Given the description of an element on the screen output the (x, y) to click on. 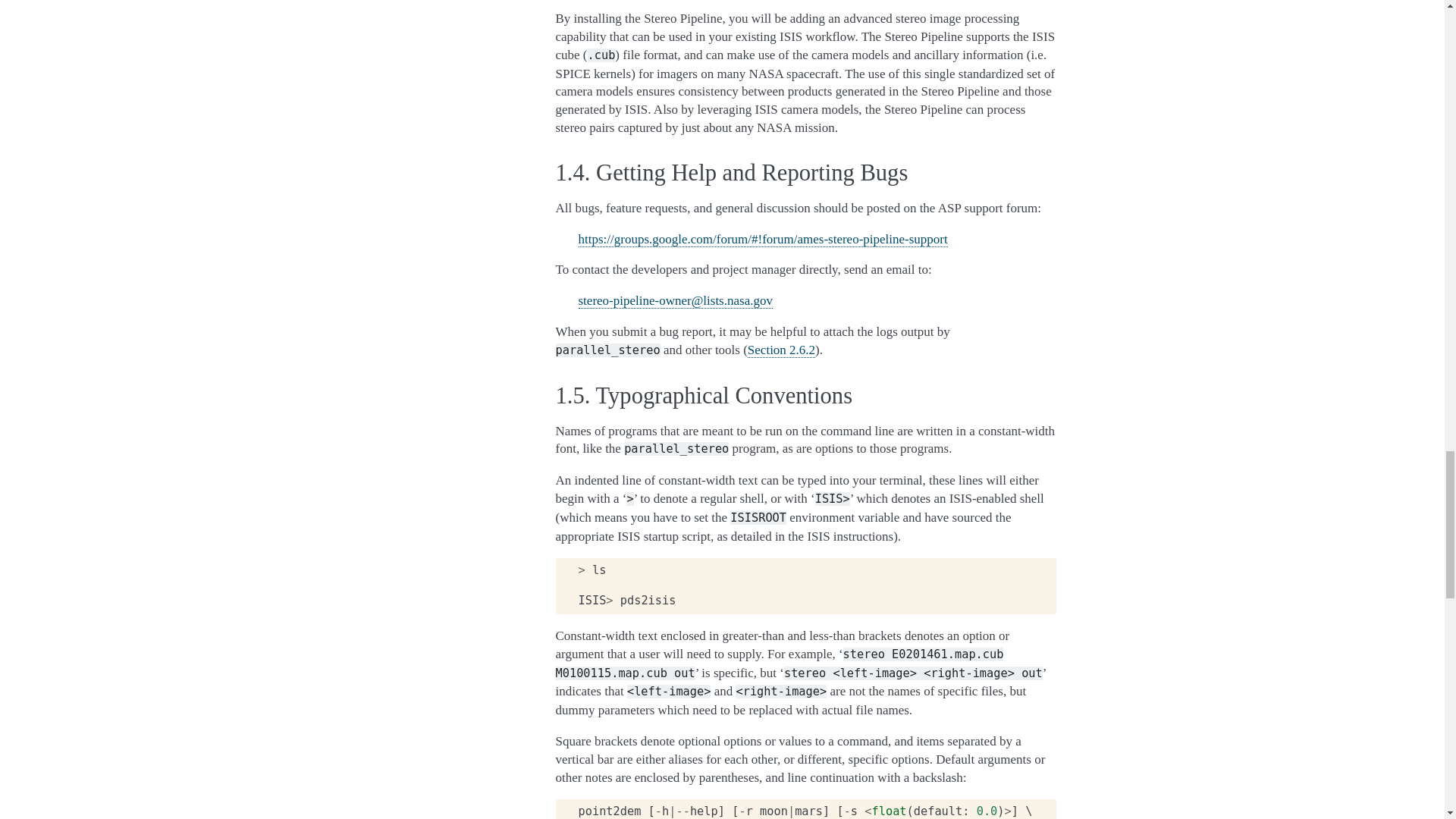
Section 2.6.2 (781, 350)
